Given the description of an element on the screen output the (x, y) to click on. 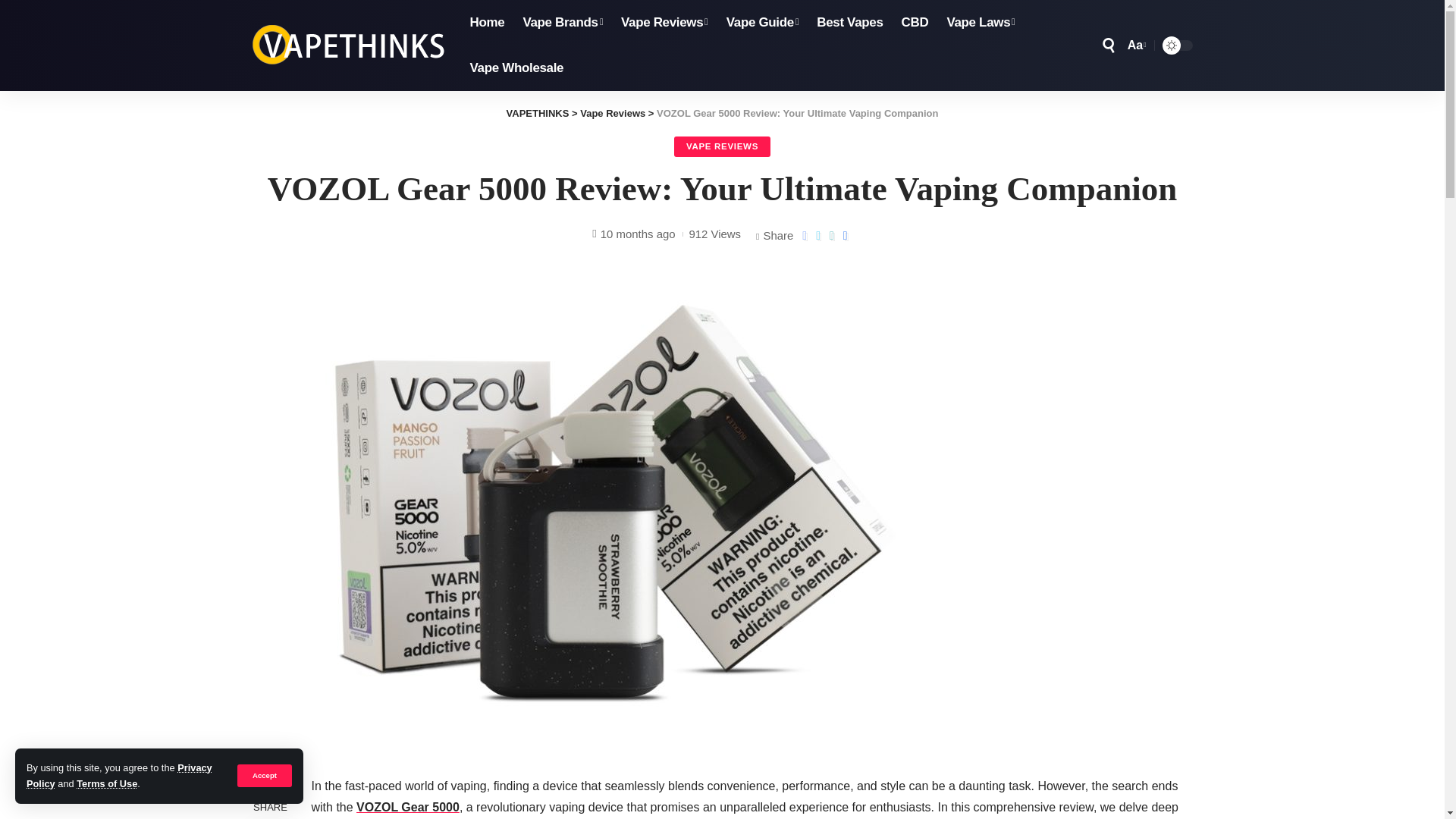
Terms of Use (106, 783)
Accept (264, 775)
Home (487, 22)
Vape Brands (562, 22)
VAPETHINKS (348, 44)
Privacy Policy (119, 775)
Vape Reviews (664, 22)
